Given the description of an element on the screen output the (x, y) to click on. 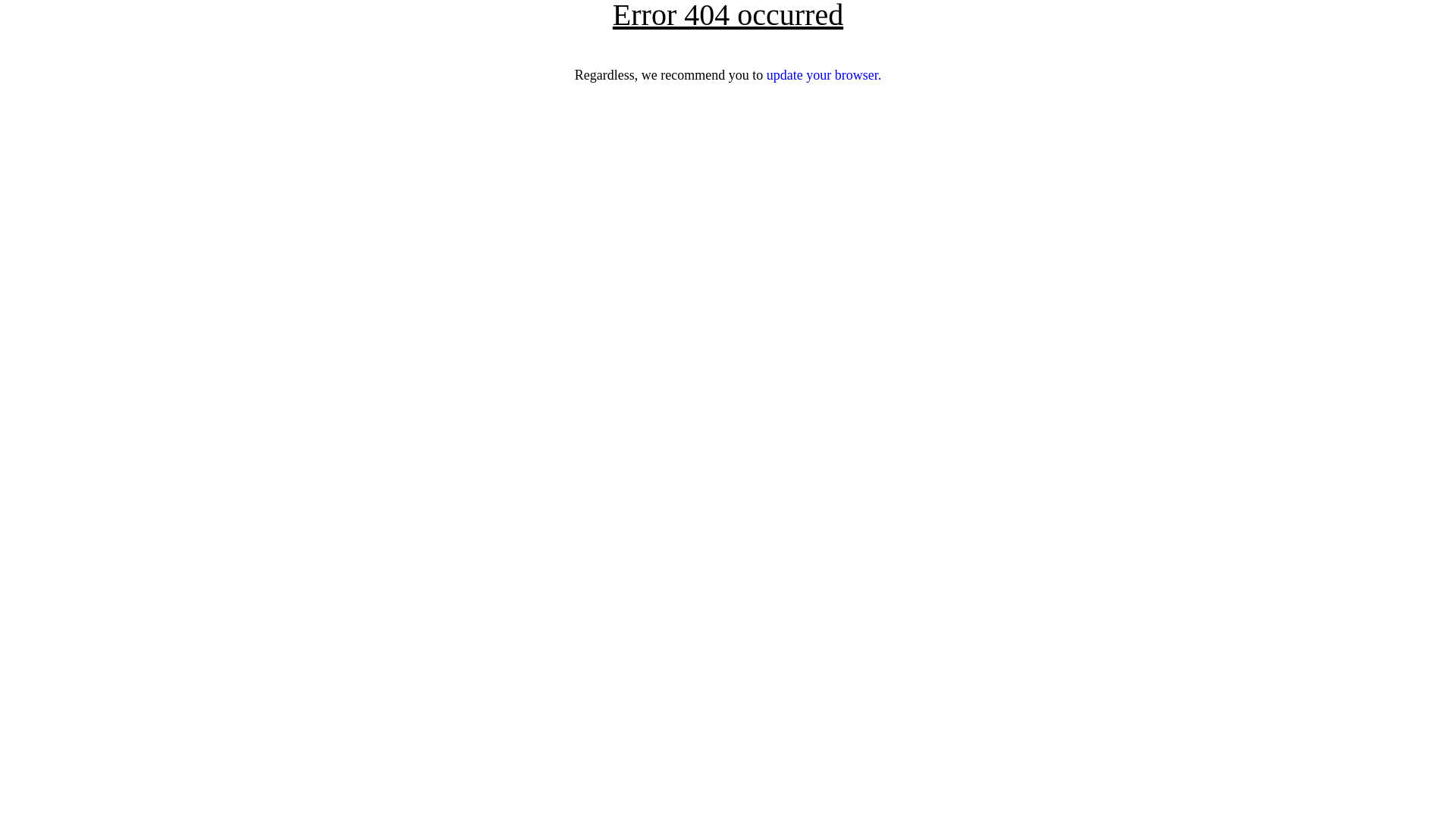
update your browser. Element type: text (823, 74)
